Given the description of an element on the screen output the (x, y) to click on. 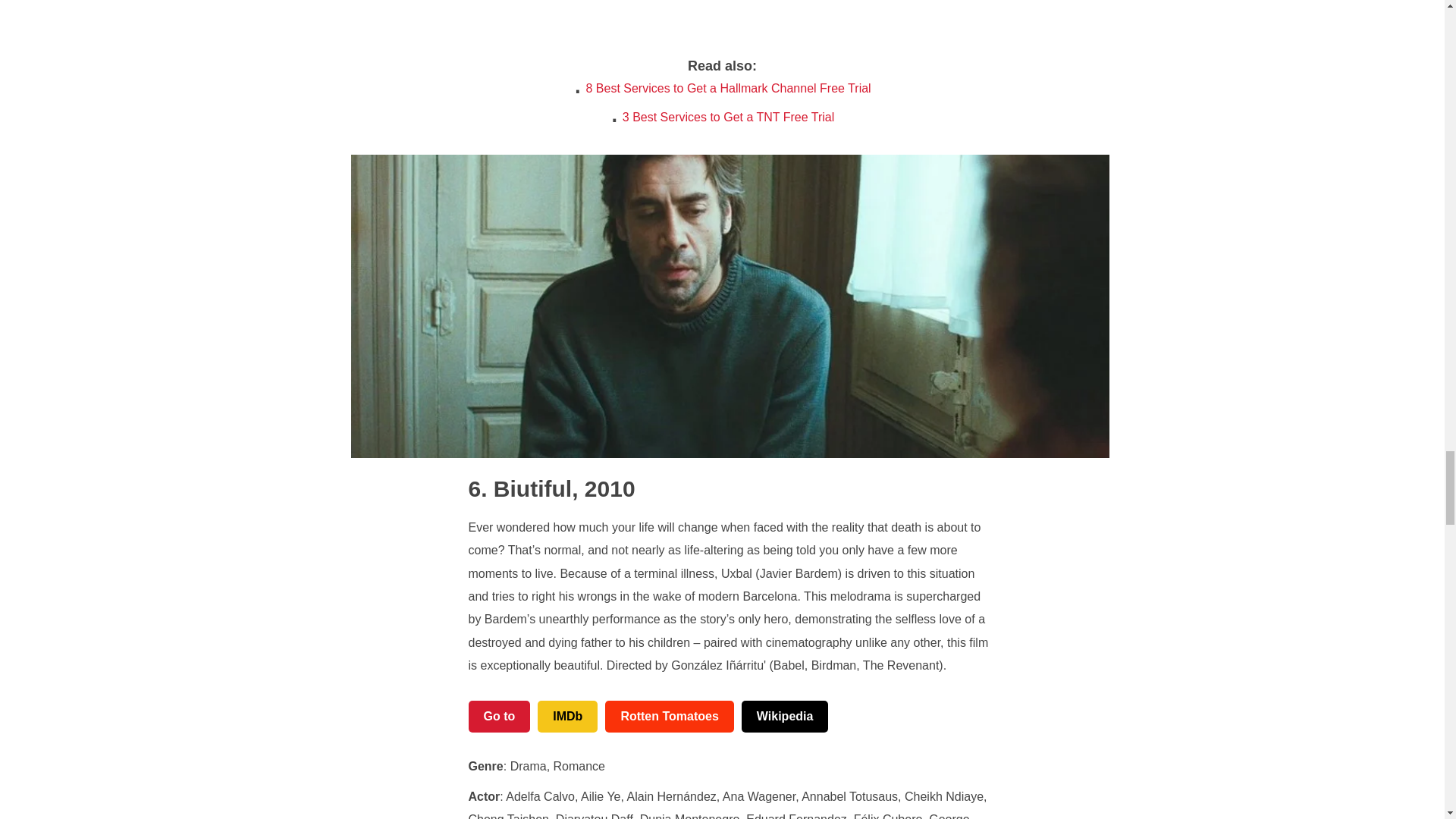
Biutiful (520, 488)
